Given the description of an element on the screen output the (x, y) to click on. 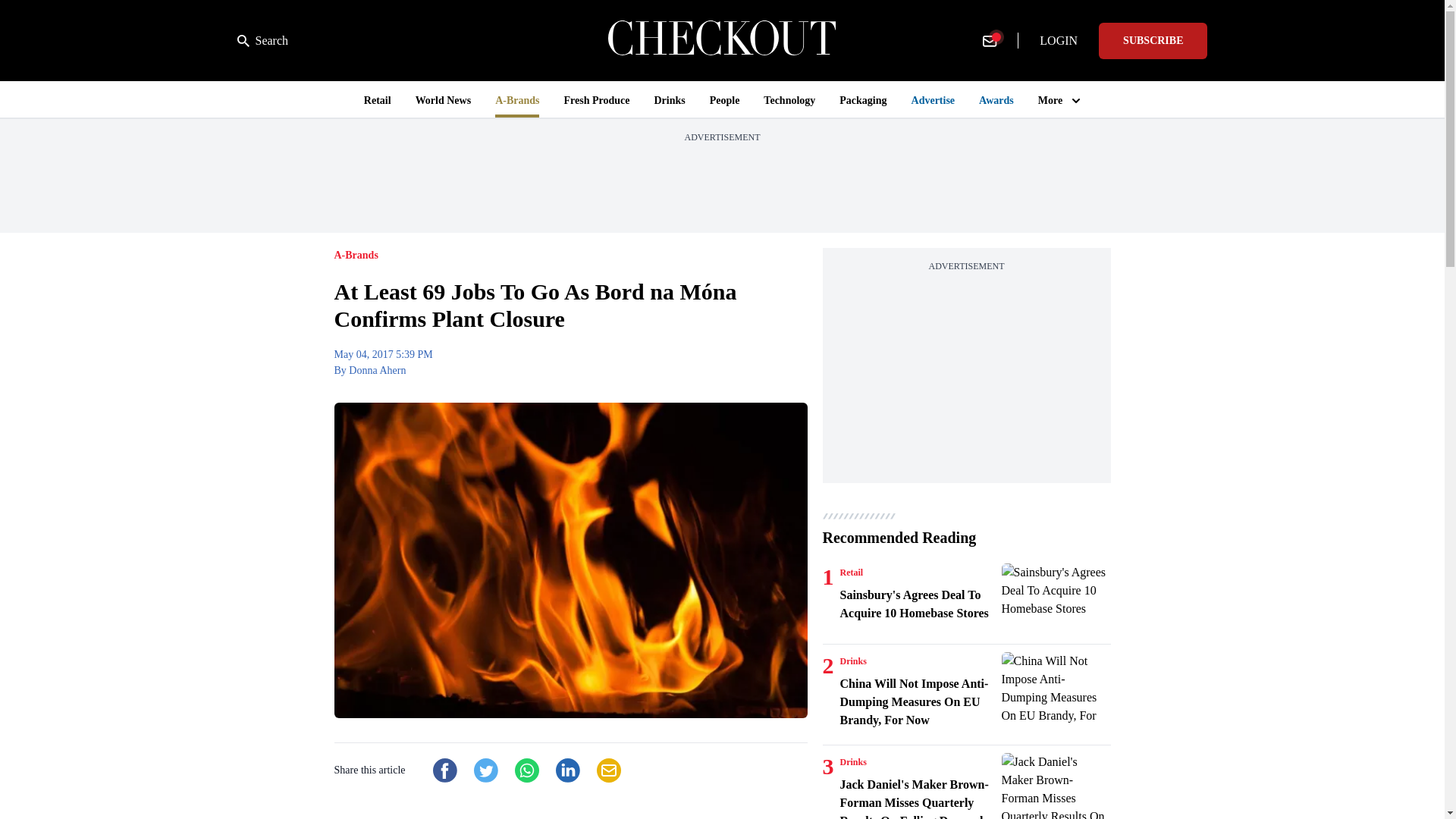
Drinks (853, 761)
Retail (851, 572)
Sainsbury's Agrees Deal To Acquire 10 Homebase Stores (1055, 599)
Sainsbury's Agrees Deal To Acquire 10 Homebase Stores (917, 604)
Checkout (721, 40)
Drinks (853, 661)
LOGIN (1058, 40)
